Given the description of an element on the screen output the (x, y) to click on. 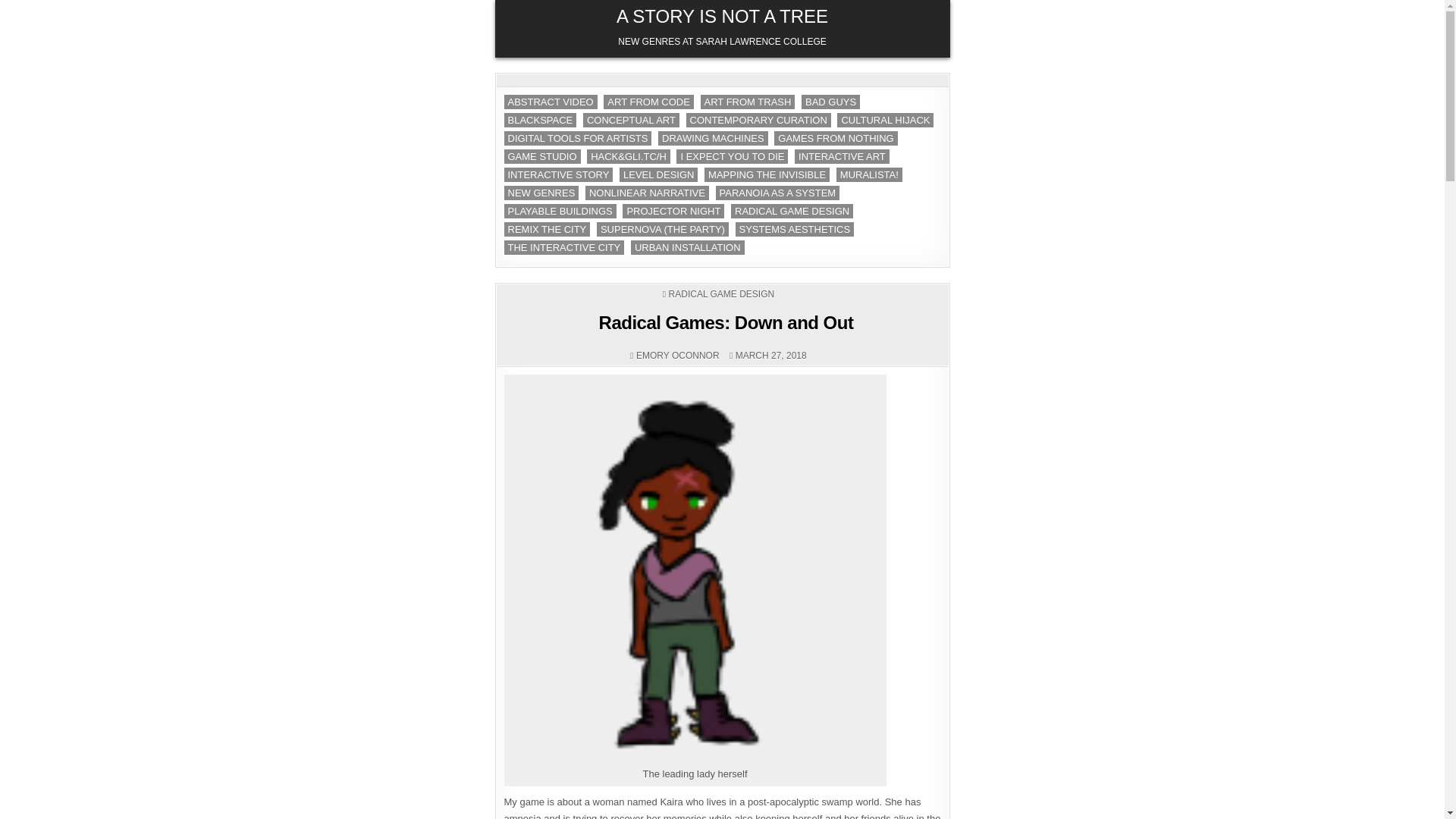
Radical Games: Down and Out (725, 322)
INTERACTIVE ART (841, 156)
PLAYABLE BUILDINGS (559, 210)
GAMES FROM NOTHING (835, 138)
I EXPECT YOU TO DIE (732, 156)
INTERACTIVE STORY (557, 174)
RADICAL GAME DESIGN (791, 210)
EMORY OCONNOR (677, 355)
ABSTRACT VIDEO (549, 101)
REMIX THE CITY (546, 228)
